Given the description of an element on the screen output the (x, y) to click on. 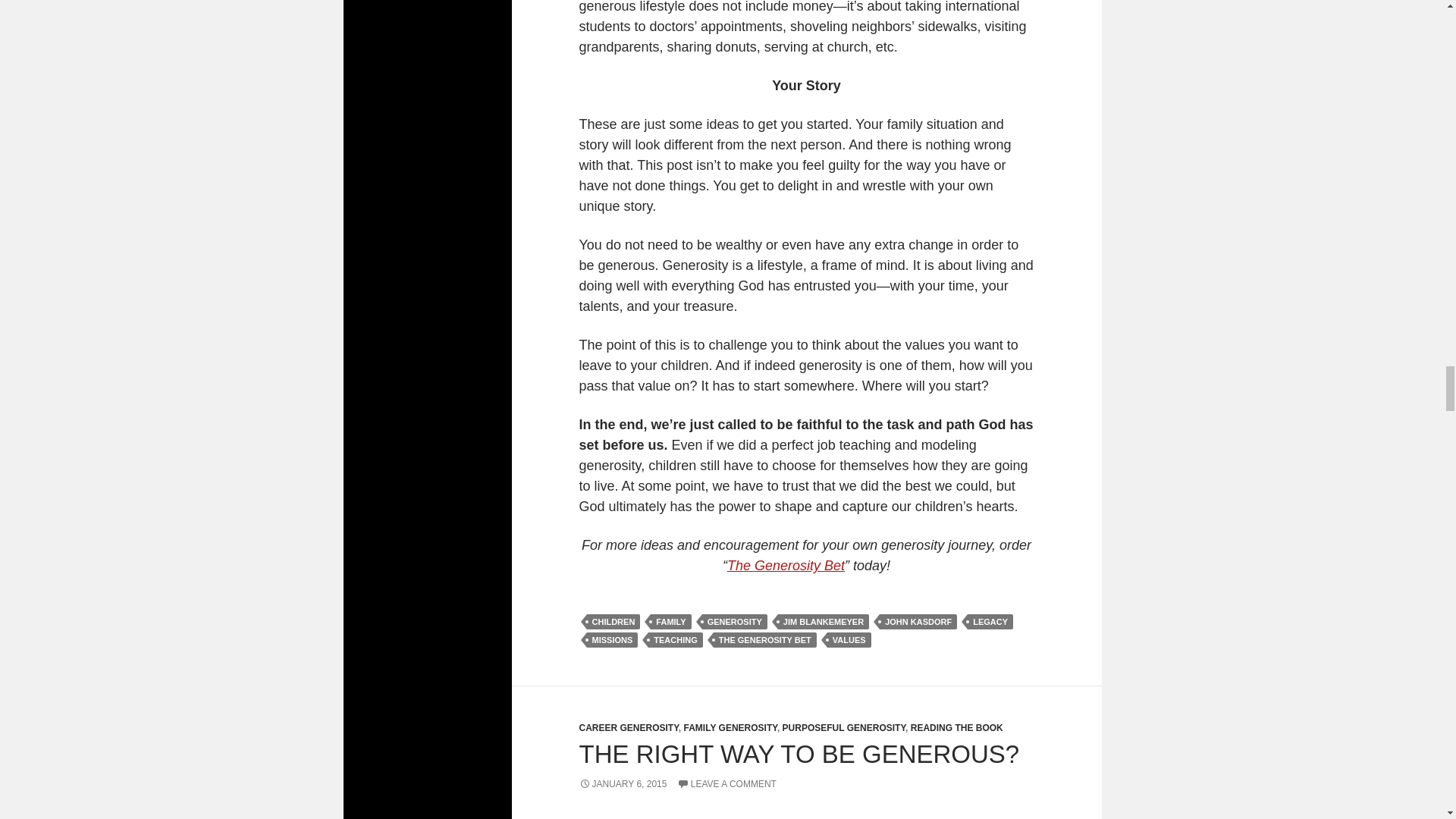
Comment on The Right Way To Be Generous? (726, 783)
